Given the description of an element on the screen output the (x, y) to click on. 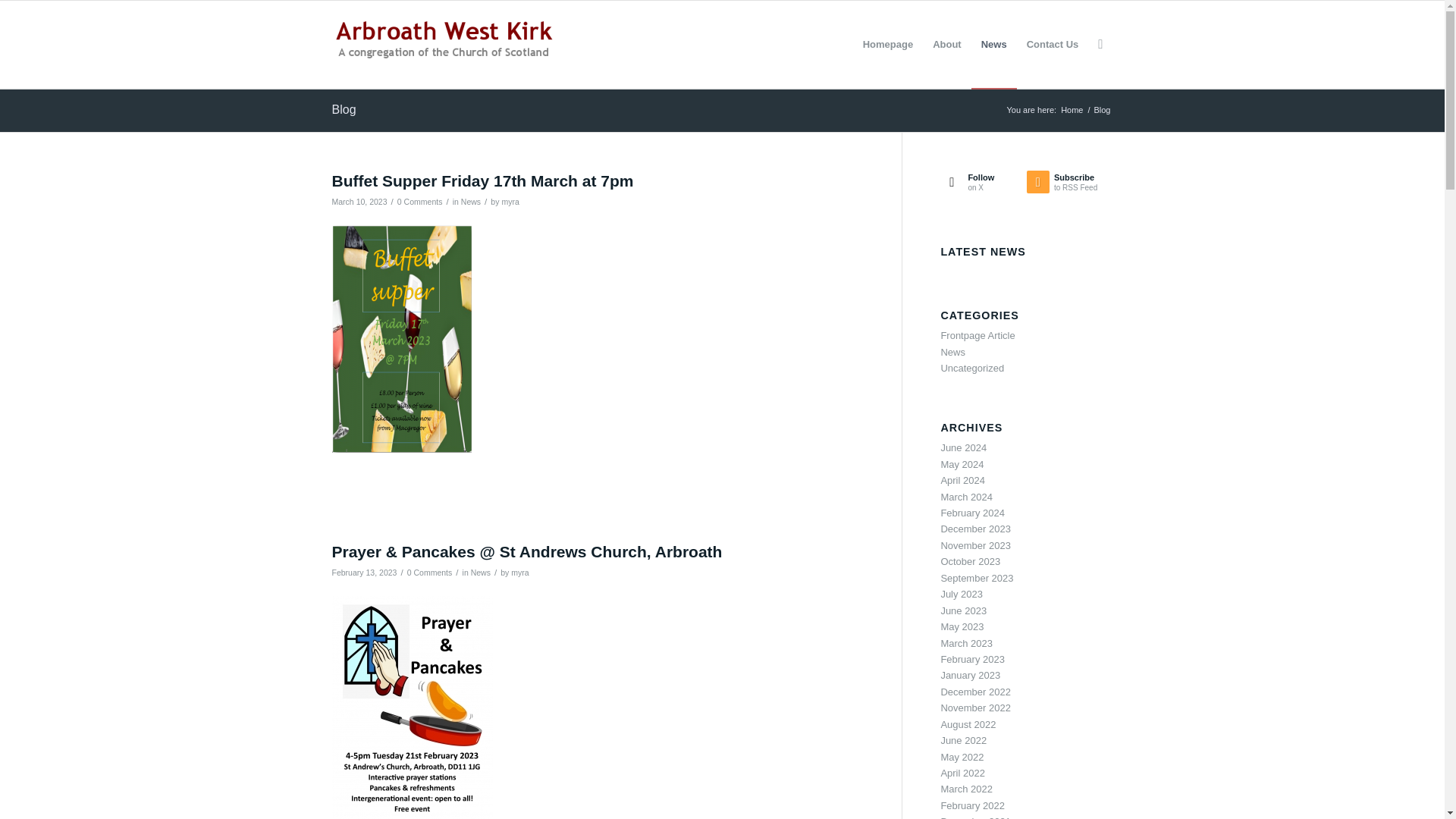
News (470, 201)
0 Comments (419, 201)
Homepage (888, 44)
Permanent Link: Blog (343, 109)
News (993, 44)
Permanent Link: Buffet Supper Friday 17th March at 7pm (482, 180)
Contact Us (1052, 44)
Buffet Supper Friday 17th March at 7pm (482, 180)
myra (519, 572)
Home (1071, 110)
Arbroath West Kirk (1071, 110)
Blog (343, 109)
0 Comments (429, 572)
News (480, 572)
Posts by myra (509, 201)
